Given the description of an element on the screen output the (x, y) to click on. 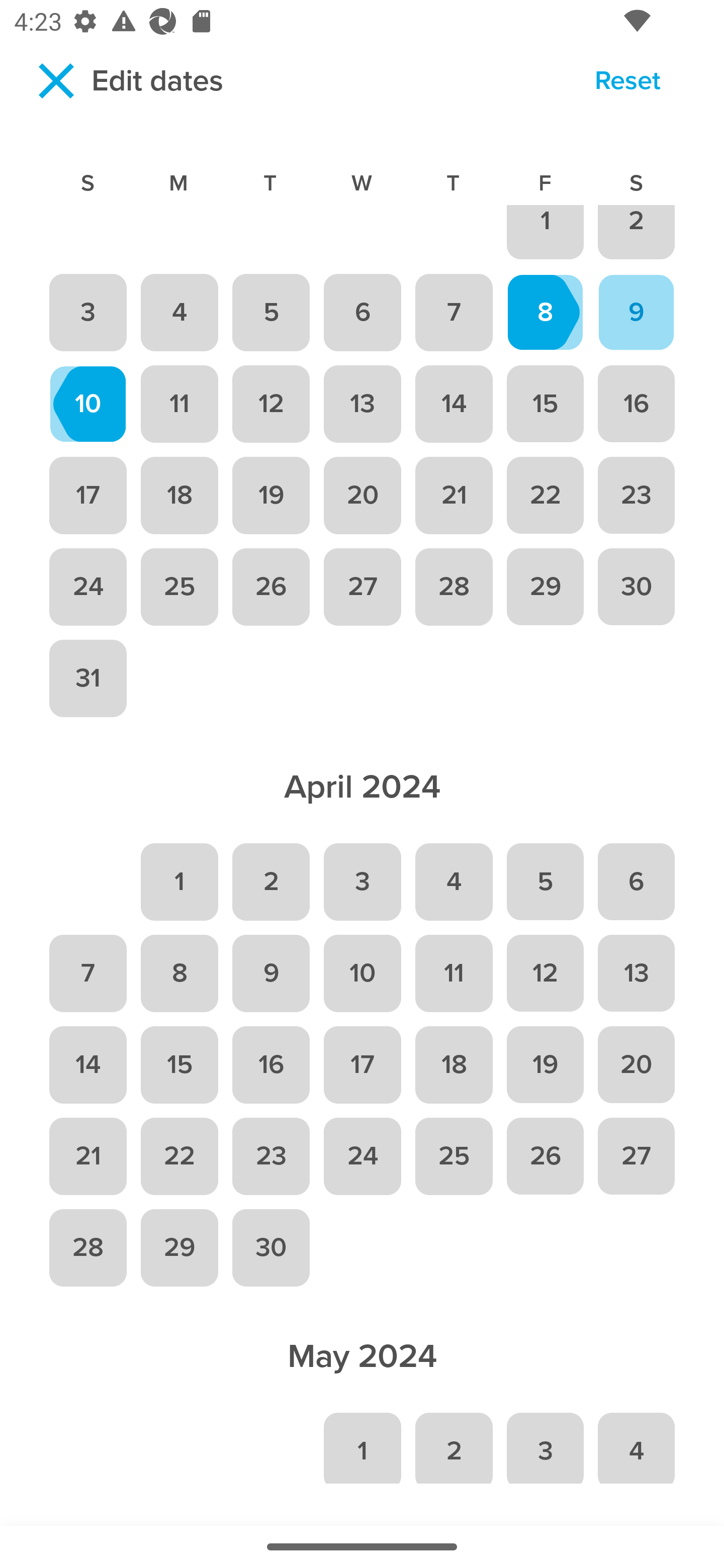
Reset (627, 82)
1 (545, 234)
2 (636, 234)
3 (87, 311)
4 (179, 311)
5 (270, 311)
6 (362, 311)
7 (453, 311)
8 (545, 311)
9 (636, 311)
10 (87, 404)
11 (179, 404)
12 (270, 404)
13 (362, 404)
14 (453, 404)
15 (545, 404)
16 (636, 404)
17 (87, 495)
18 (179, 495)
19 (270, 495)
20 (362, 495)
21 (453, 495)
22 (545, 495)
23 (636, 495)
24 (87, 586)
25 (179, 586)
26 (270, 586)
27 (362, 586)
28 (453, 586)
29 (545, 586)
30 (636, 586)
31 (87, 678)
1 (179, 881)
2 (270, 881)
3 (362, 881)
4 (453, 881)
5 (545, 881)
6 (636, 881)
7 (87, 973)
8 (179, 973)
9 (270, 973)
10 (362, 973)
11 (453, 973)
12 (545, 973)
13 (636, 973)
14 (87, 1064)
15 (179, 1064)
16 (270, 1064)
17 (362, 1064)
18 (453, 1064)
19 (545, 1064)
20 (636, 1064)
21 (87, 1155)
22 (179, 1155)
23 (270, 1155)
24 (362, 1155)
25 (453, 1155)
26 (545, 1155)
27 (636, 1155)
28 (87, 1247)
29 (179, 1247)
30 (270, 1247)
1 (362, 1446)
2 (453, 1446)
3 (545, 1446)
4 (636, 1446)
